Given the description of an element on the screen output the (x, y) to click on. 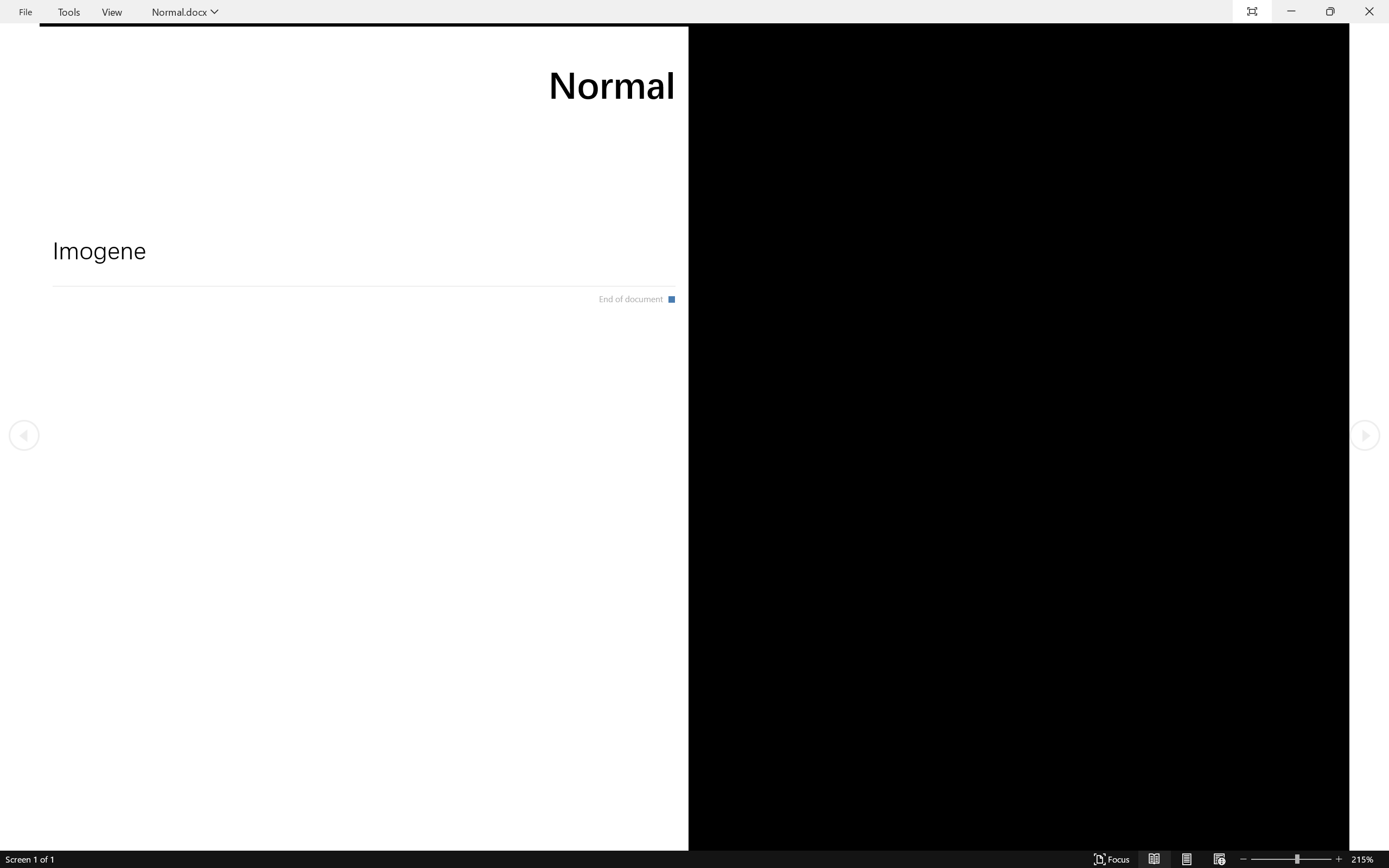
Class: Net UI Tool Window Layered (694, 11)
Class: NetUIScrollBar (694, 860)
